Given the description of an element on the screen output the (x, y) to click on. 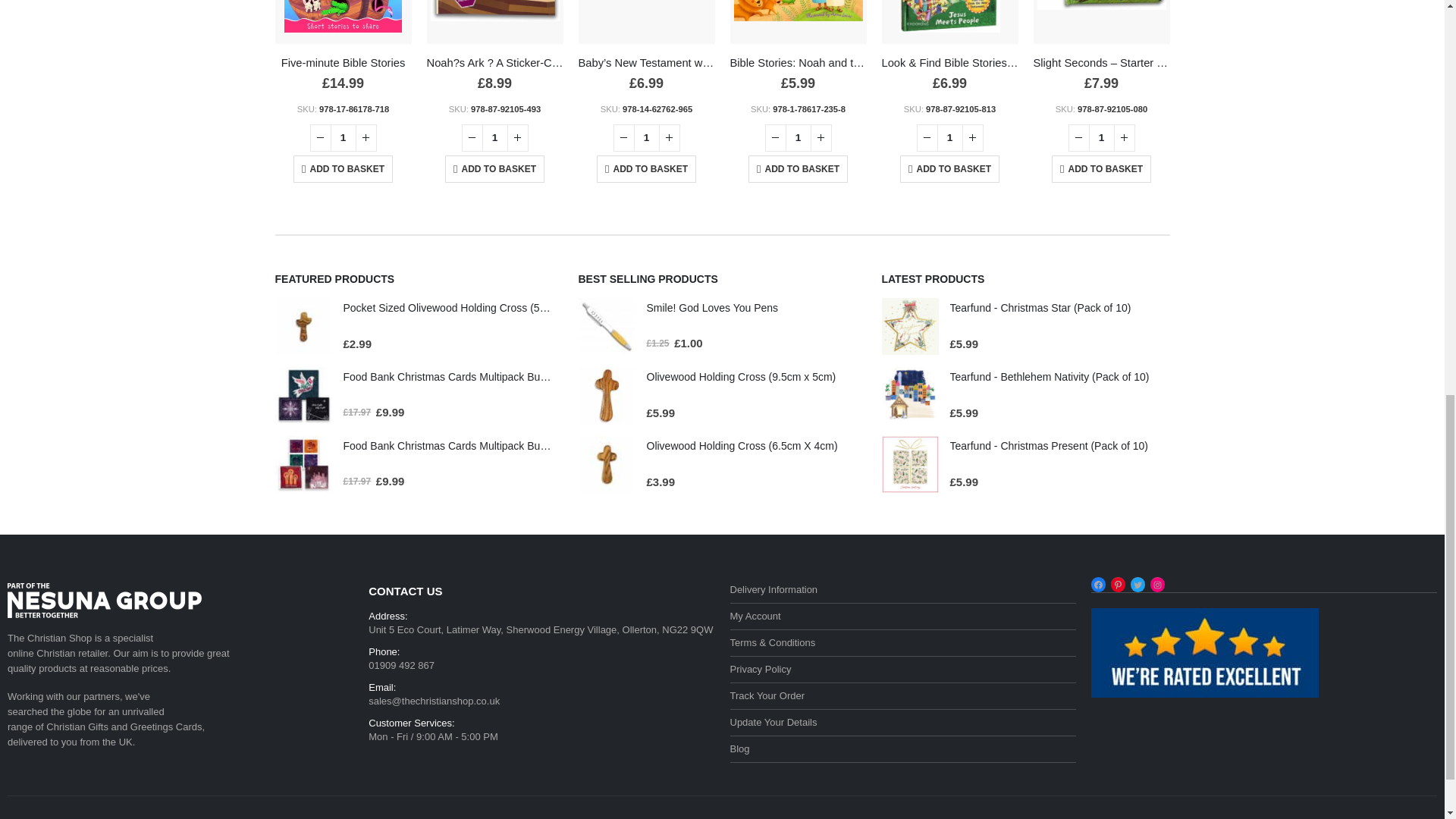
1 (494, 137)
1 (1102, 137)
1 (949, 137)
1 (646, 137)
1 (798, 137)
1 (343, 137)
